Given the description of an element on the screen output the (x, y) to click on. 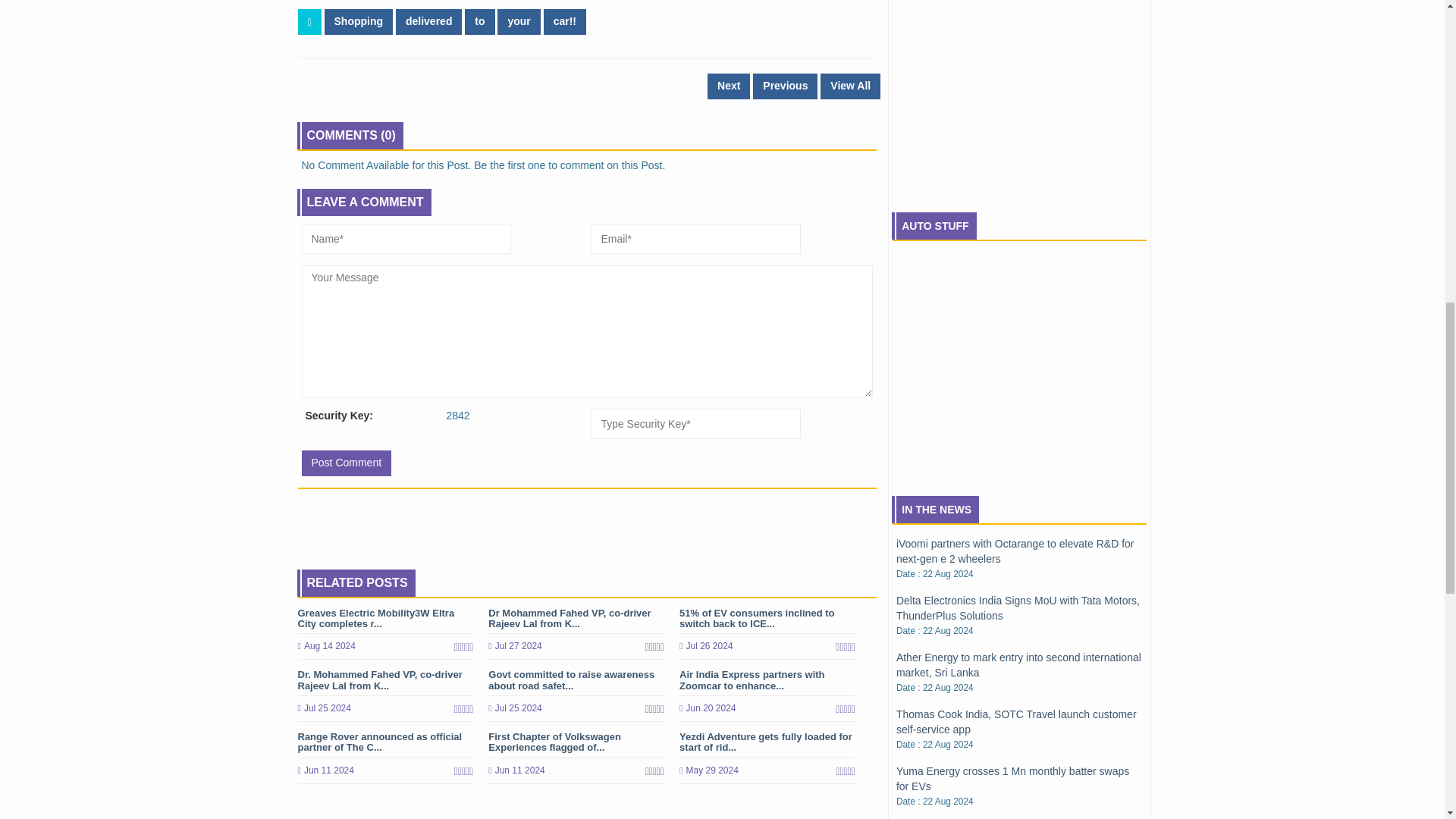
your (518, 22)
Shopping (358, 22)
delivered (428, 22)
Post Comment (346, 462)
to (479, 22)
